Given the description of an element on the screen output the (x, y) to click on. 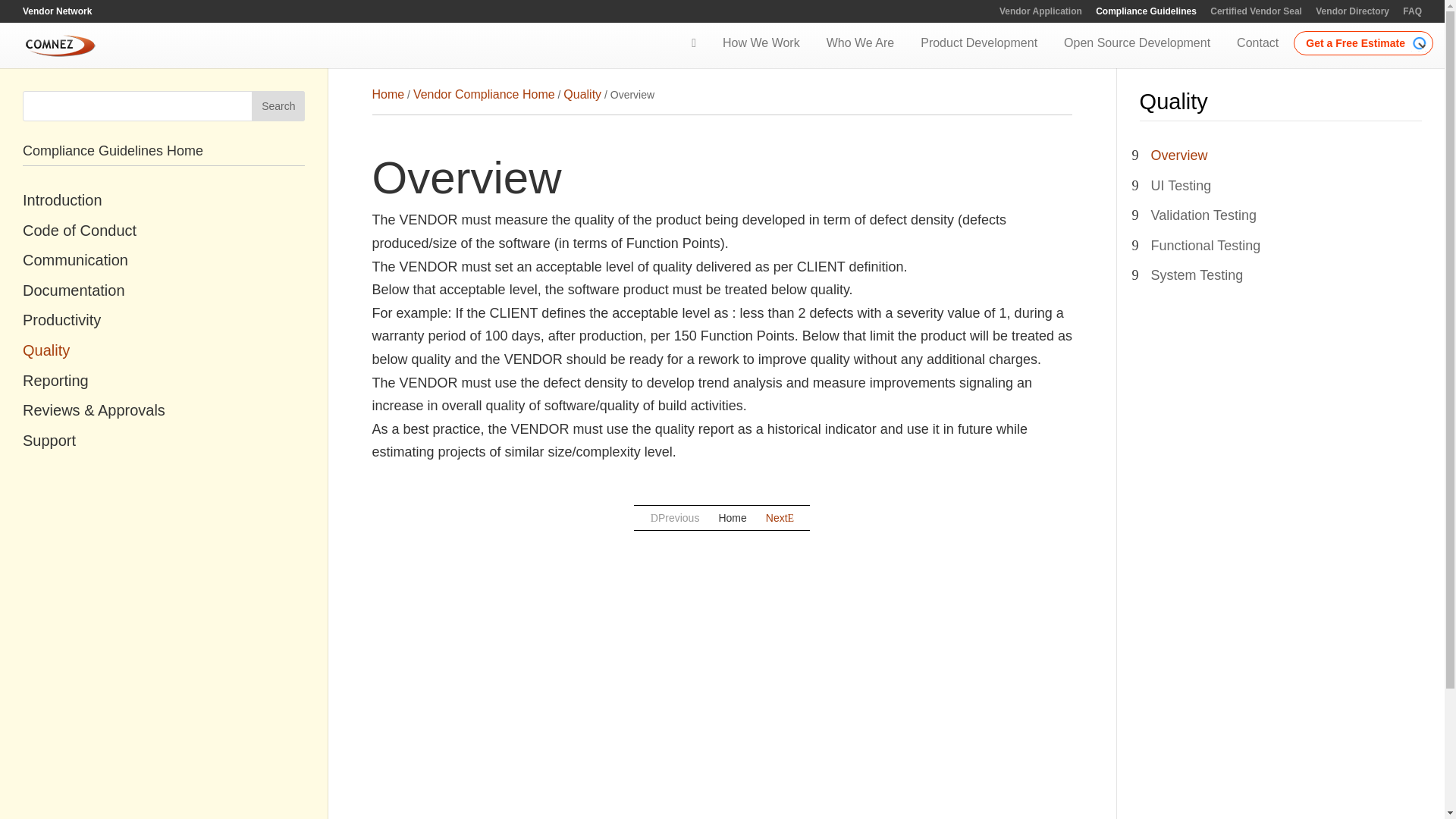
Vendor Directory (1352, 14)
Home (388, 93)
Go to Vendor Compliance Home. (483, 93)
Contact (1257, 43)
FAQ (1412, 14)
Who We Are (860, 43)
Compliance Guidelines (1146, 14)
Certified Vendor Seal (1255, 14)
Code of Conduct (163, 230)
Vendor Application (1039, 14)
